Given the description of an element on the screen output the (x, y) to click on. 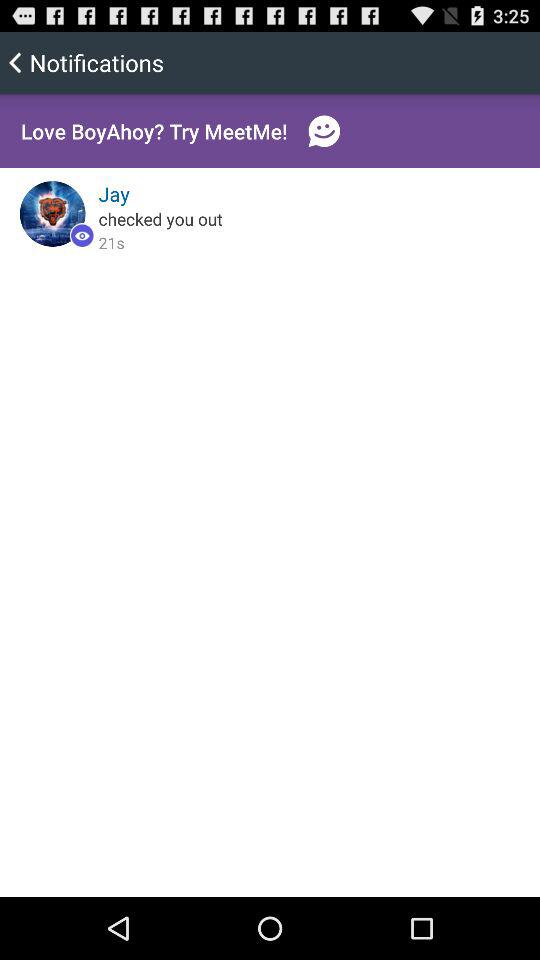
jump until the checked you out icon (160, 218)
